Given the description of an element on the screen output the (x, y) to click on. 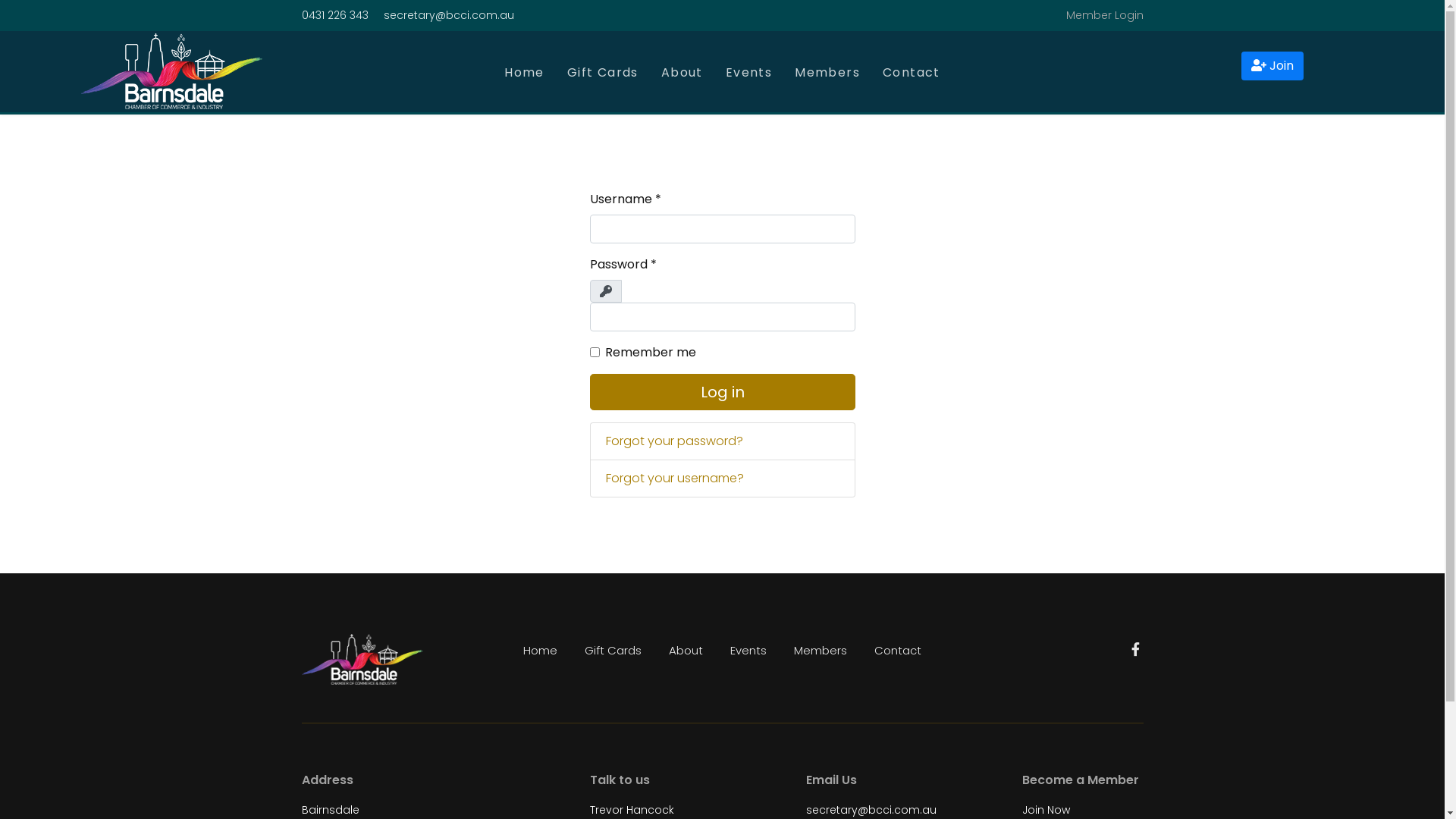
Home Element type: text (523, 72)
Member Login Element type: text (1104, 14)
0431 226 343 Element type: text (334, 14)
About Element type: text (685, 650)
Forgot your password? Element type: text (722, 441)
Join Now Element type: text (1046, 809)
Events Element type: text (748, 650)
Contact Element type: text (897, 650)
secretary@bcci.com.au Element type: text (870, 809)
Join Element type: text (1272, 65)
Members Element type: text (820, 650)
secretary@bcci.com.au Element type: text (448, 14)
Log in Element type: text (722, 391)
About Element type: text (681, 72)
Gift Cards Element type: text (602, 72)
Events Element type: text (748, 72)
Forgot your username? Element type: text (722, 478)
Members Element type: text (827, 72)
Gift Cards Element type: text (612, 650)
Home Element type: text (540, 650)
Contact Element type: text (911, 72)
